Given the description of an element on the screen output the (x, y) to click on. 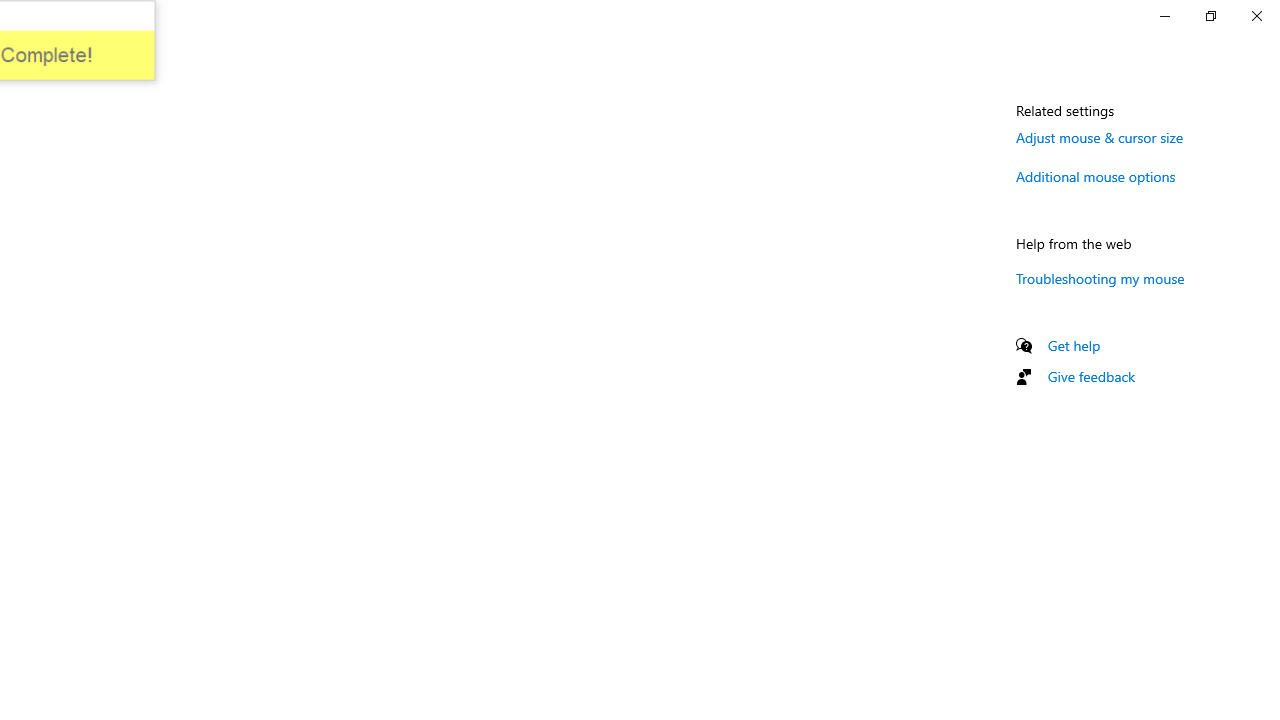
Give feedback (1091, 376)
Close Settings (1256, 15)
Additional mouse options (1096, 176)
Troubleshooting my mouse (1100, 278)
Get help (1074, 345)
Restore Settings (1210, 15)
Adjust mouse & cursor size (1100, 137)
Minimize Settings (1164, 15)
